Given the description of an element on the screen output the (x, y) to click on. 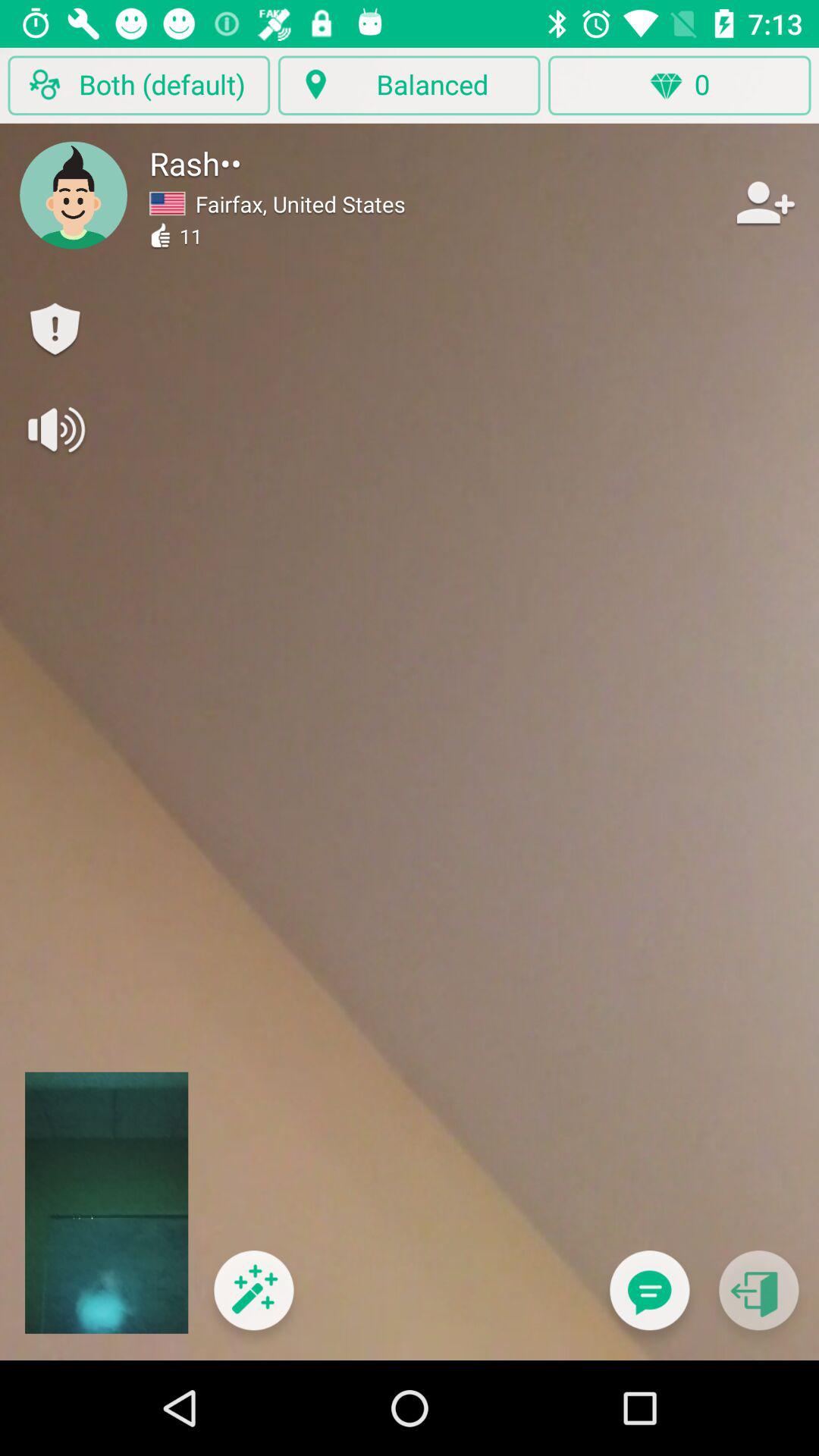
hit the sound button (55, 429)
